Given the description of an element on the screen output the (x, y) to click on. 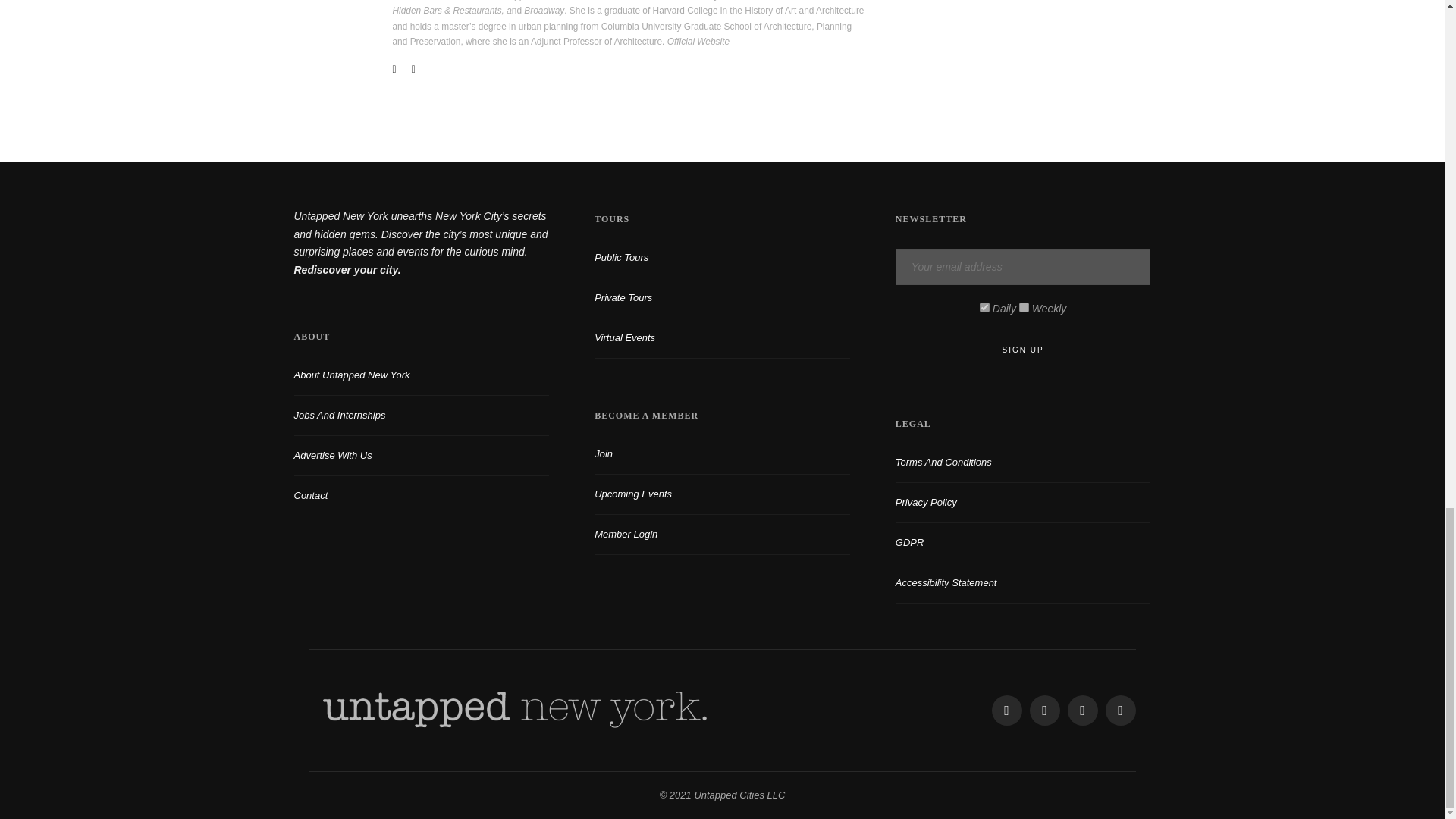
Sign up (1023, 349)
e99a09560c (984, 307)
7cff6a70fd (1024, 307)
